Given the description of an element on the screen output the (x, y) to click on. 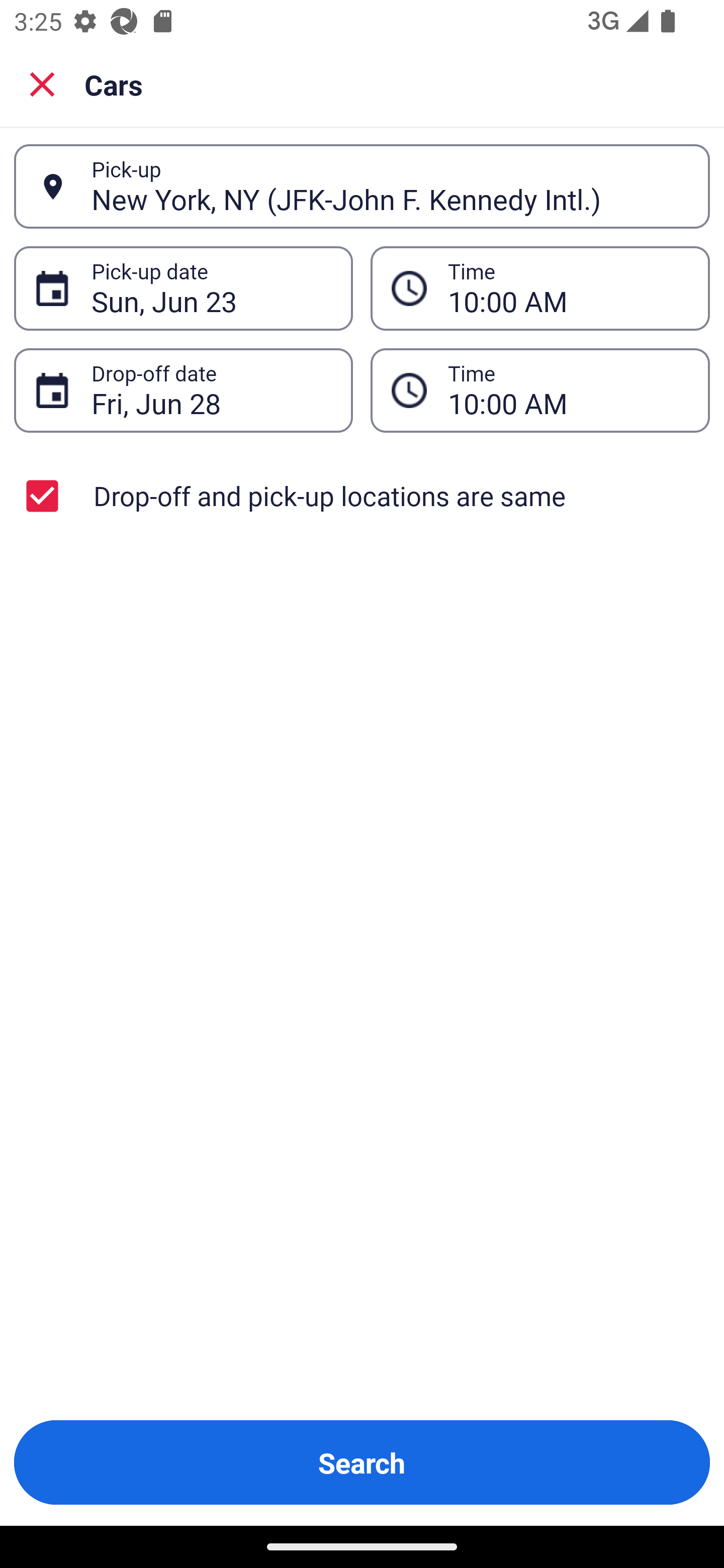
Close search screen (41, 83)
New York, NY (JFK-John F. Kennedy Intl.) Pick-up (361, 186)
New York, NY (JFK-John F. Kennedy Intl.) (389, 186)
Sun, Jun 23 Pick-up date (183, 288)
10:00 AM (540, 288)
Sun, Jun 23 (211, 288)
10:00 AM (568, 288)
Fri, Jun 28 Drop-off date (183, 390)
10:00 AM (540, 390)
Fri, Jun 28 (211, 390)
10:00 AM (568, 390)
Drop-off and pick-up locations are same (361, 495)
Search Button Search (361, 1462)
